Given the description of an element on the screen output the (x, y) to click on. 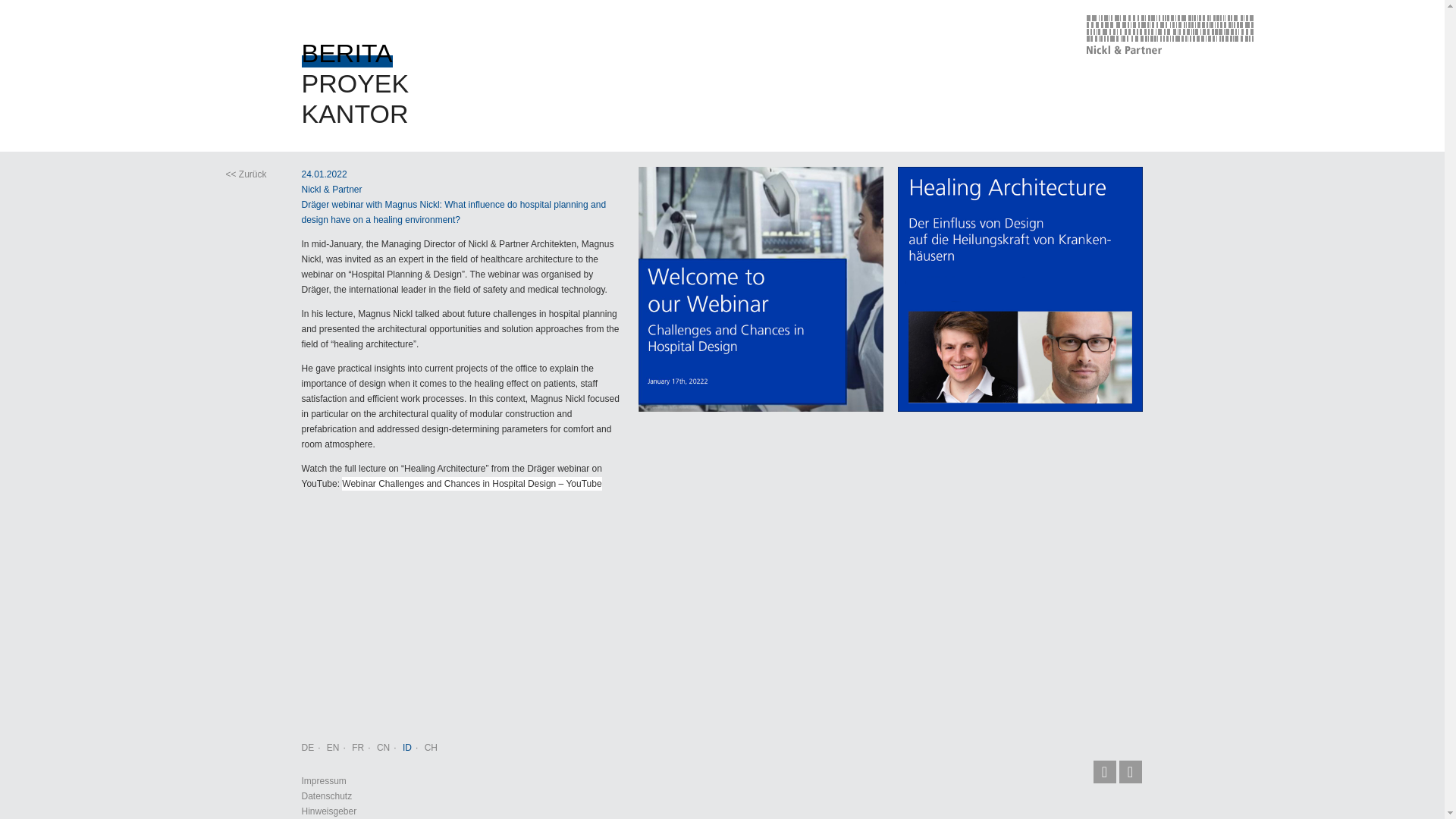
Impressum (323, 780)
CH (431, 747)
LinkedIn (1104, 771)
Datenschutz (326, 796)
Hinweisgeber (328, 810)
EN (332, 747)
FR (358, 747)
CN (383, 747)
Instagram (1130, 771)
KANTOR (355, 113)
DE (307, 747)
BERITA (347, 52)
PROYEK (355, 82)
